Given the description of an element on the screen output the (x, y) to click on. 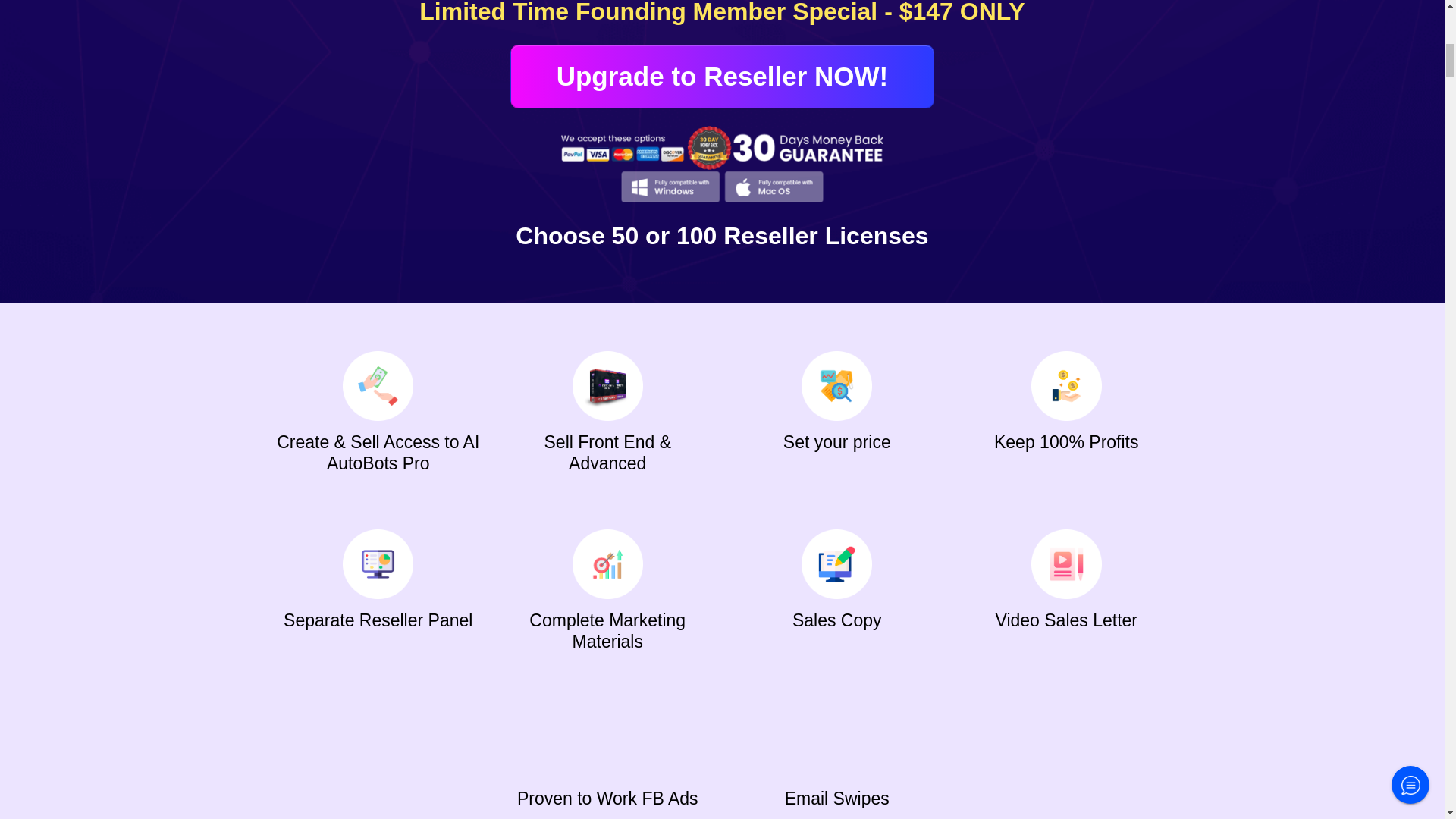
Upgrade to Reseller NOW! (722, 76)
